Given the description of an element on the screen output the (x, y) to click on. 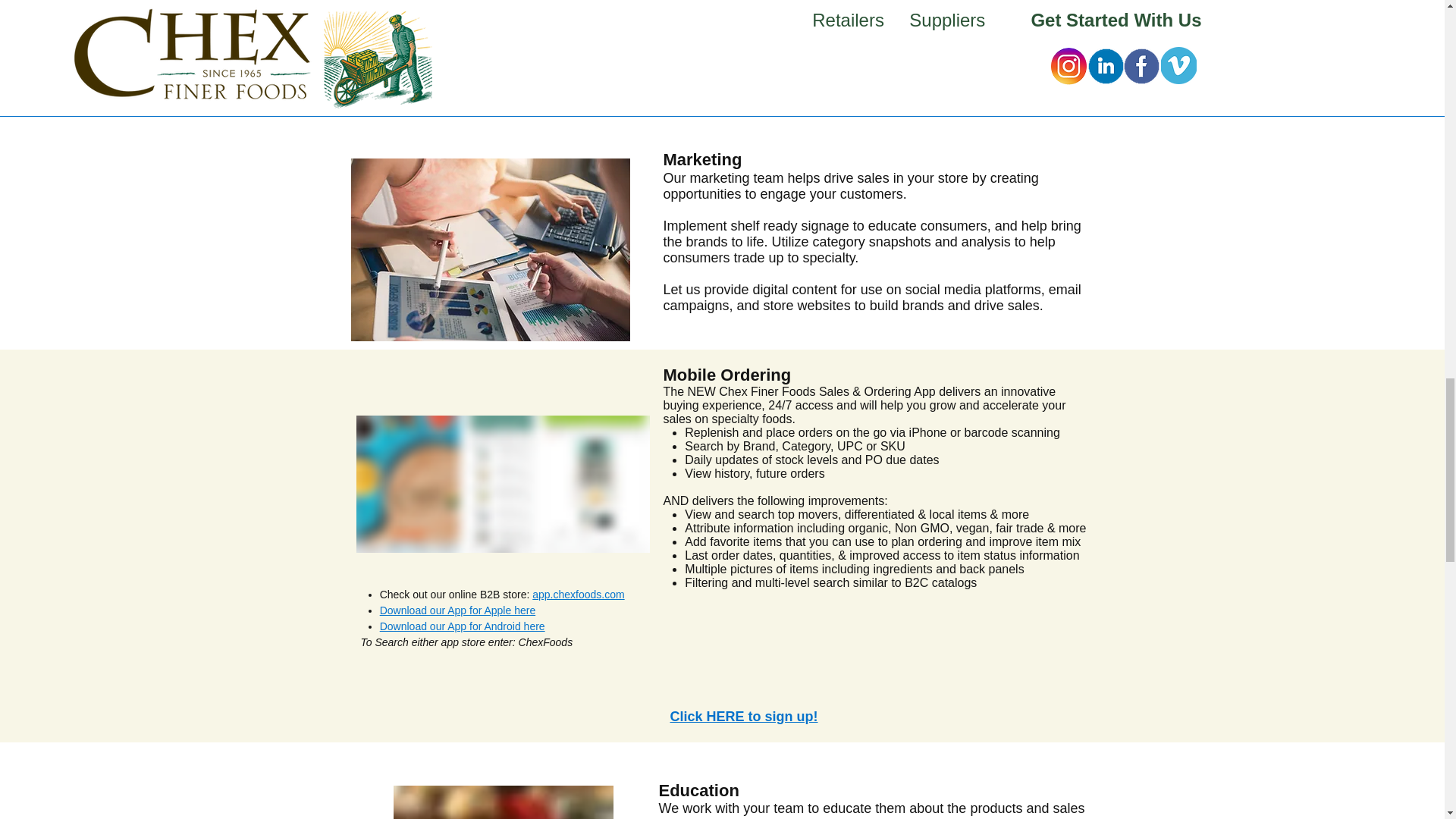
Download our App for Apple here (457, 610)
app.chexfoods.com (578, 594)
Download our App for Android here (462, 625)
Click HERE to sign up! (743, 716)
